Given the description of an element on the screen output the (x, y) to click on. 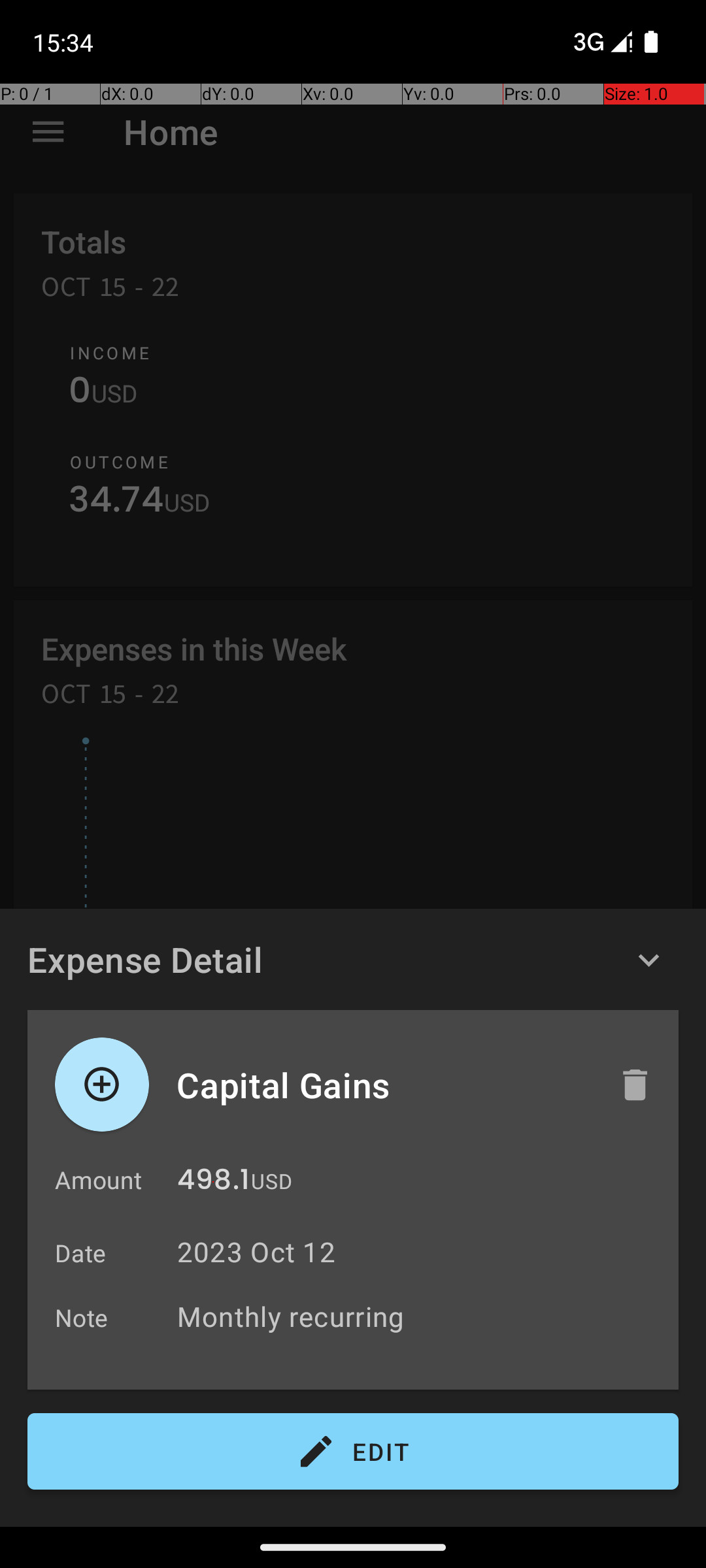
Expense Detail Element type: android.widget.TextView (145, 959)
Capital Gains Element type: android.widget.TextView (383, 1084)
Amount Element type: android.widget.TextView (97, 1179)
498.1 Element type: android.widget.TextView (213, 1182)
Date Element type: android.widget.TextView (80, 1252)
2023 Oct 12 Element type: android.widget.TextView (256, 1251)
Note Element type: android.widget.TextView (81, 1317)
Monthly recurring Element type: android.widget.TextView (420, 1315)
EDIT Element type: android.widget.Button (352, 1451)
